Given the description of an element on the screen output the (x, y) to click on. 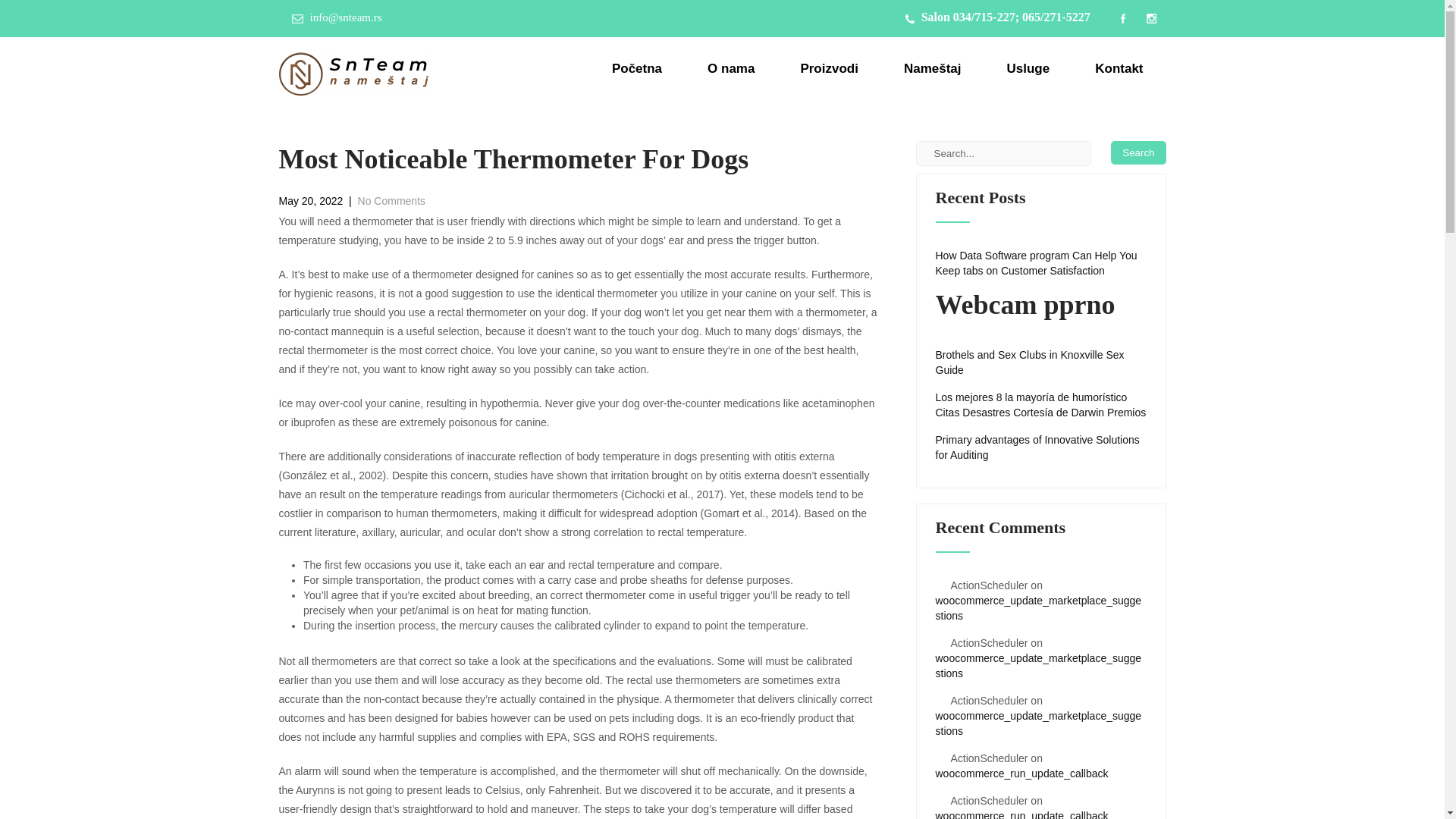
O nama (730, 68)
Search (1138, 152)
Proizvodi (828, 68)
Search (1138, 152)
